Given the description of an element on the screen output the (x, y) to click on. 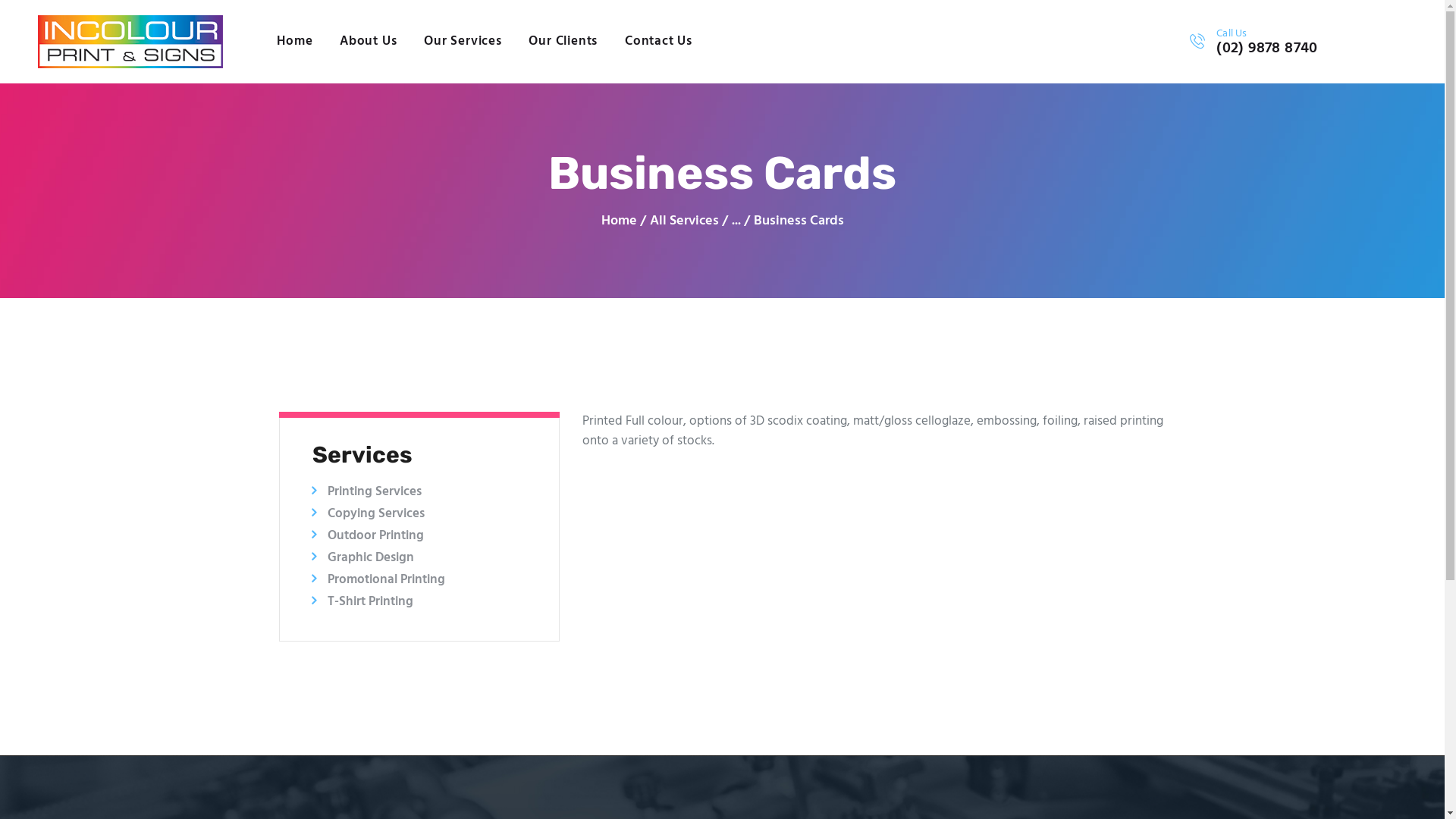
Outdoor Printing Element type: text (375, 535)
Home Element type: text (294, 41)
Home Element type: text (618, 221)
Copying Services Element type: text (375, 513)
Printing Services Element type: text (374, 491)
Our Services Element type: text (462, 41)
Contact Us Element type: text (658, 41)
T-Shirt Printing Element type: text (370, 601)
Our Clients Element type: text (563, 41)
Graphic Design Element type: text (370, 557)
All Services Element type: text (683, 221)
Call Us
(02) 9878 8740 Element type: text (1253, 41)
About Us Element type: text (368, 41)
Promotional Printing Element type: text (386, 579)
